Given the description of an element on the screen output the (x, y) to click on. 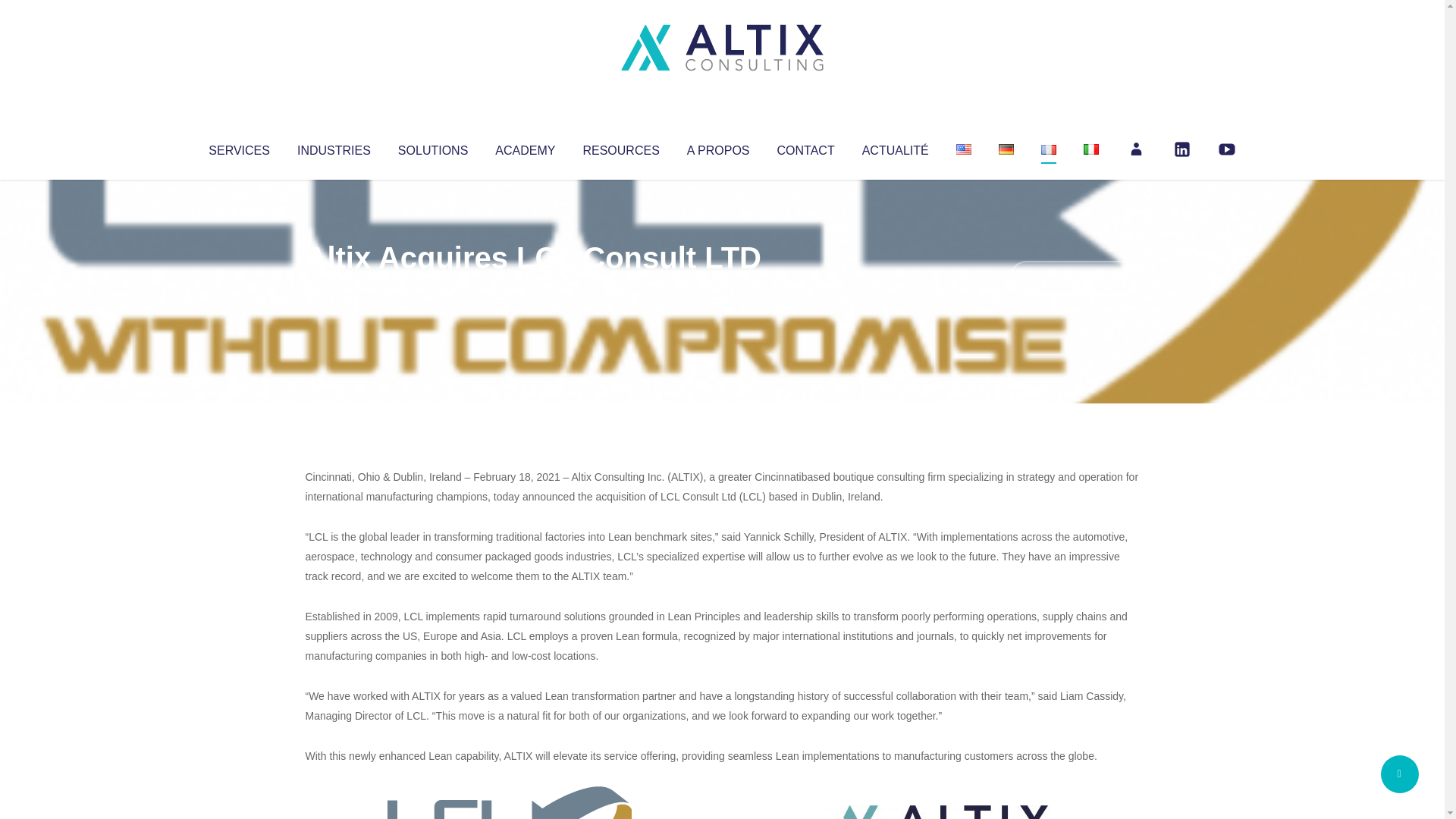
RESOURCES (620, 146)
Altix (333, 287)
SOLUTIONS (432, 146)
Uncategorized (530, 287)
No Comments (1073, 278)
INDUSTRIES (334, 146)
SERVICES (238, 146)
A PROPOS (718, 146)
ACADEMY (524, 146)
Articles par Altix (333, 287)
